Given the description of an element on the screen output the (x, y) to click on. 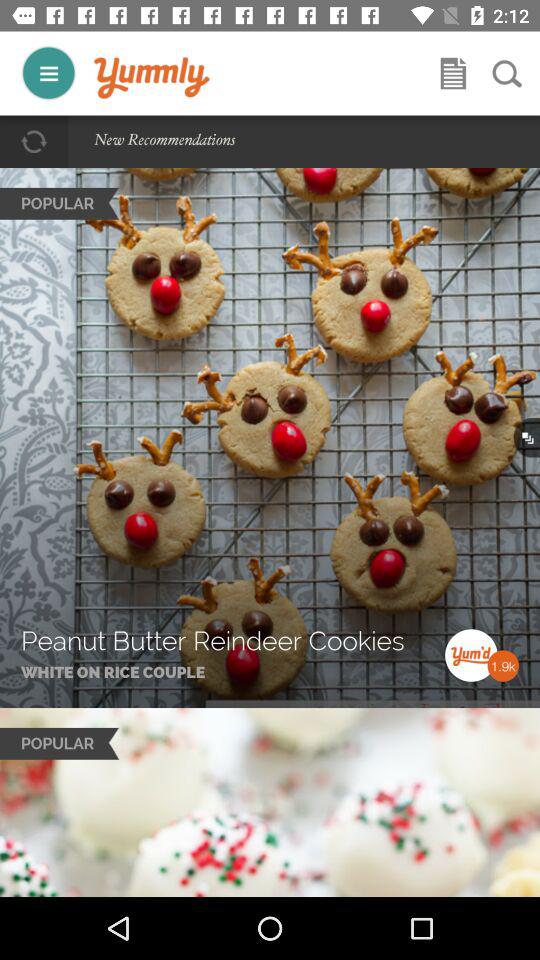
read (453, 73)
